Given the description of an element on the screen output the (x, y) to click on. 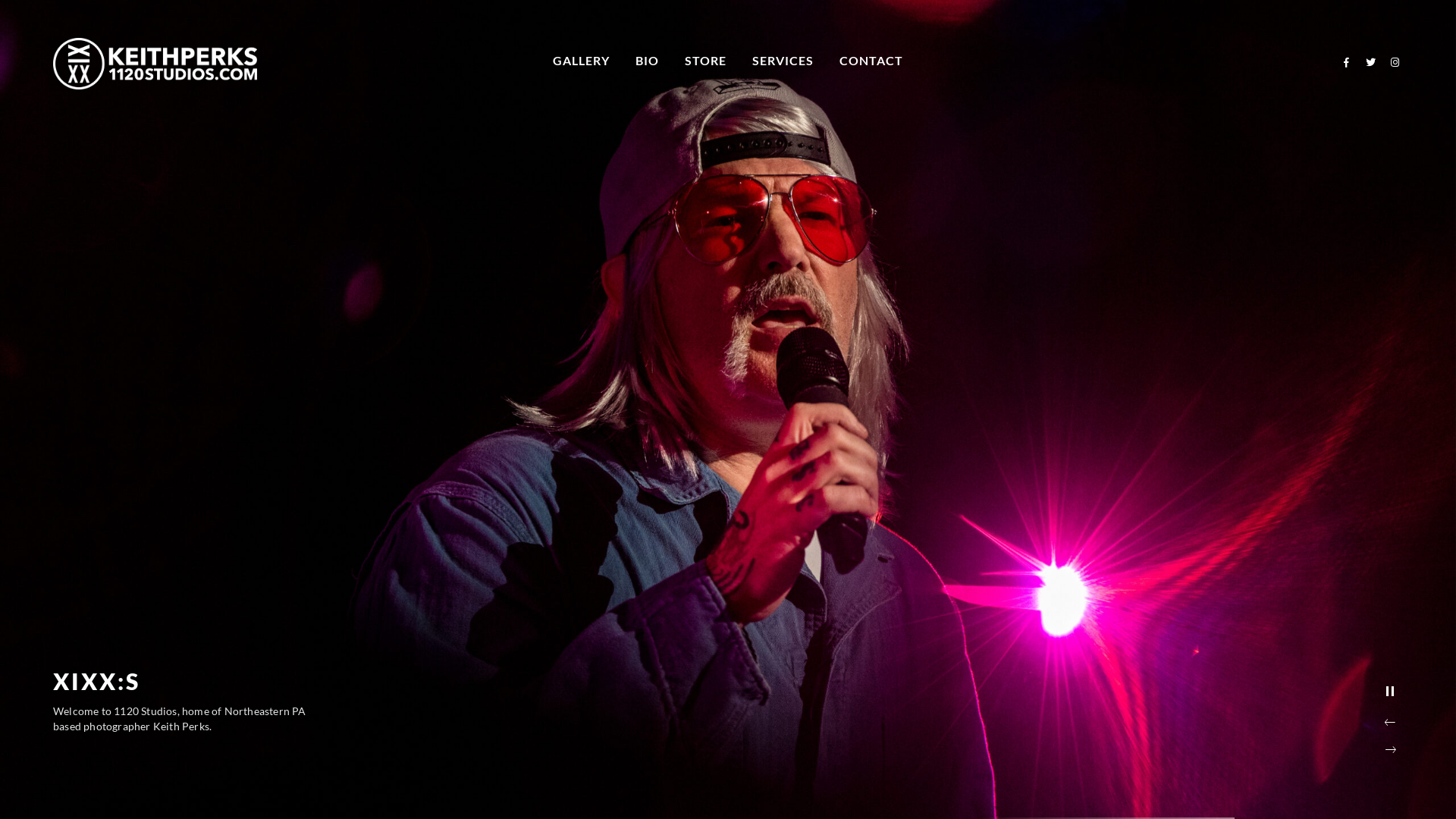
SERVICES Element type: text (782, 59)
BIO Element type: text (646, 59)
STORE Element type: text (705, 59)
CONTACT Element type: text (871, 59)
GALLERY Element type: text (580, 59)
